Given the description of an element on the screen output the (x, y) to click on. 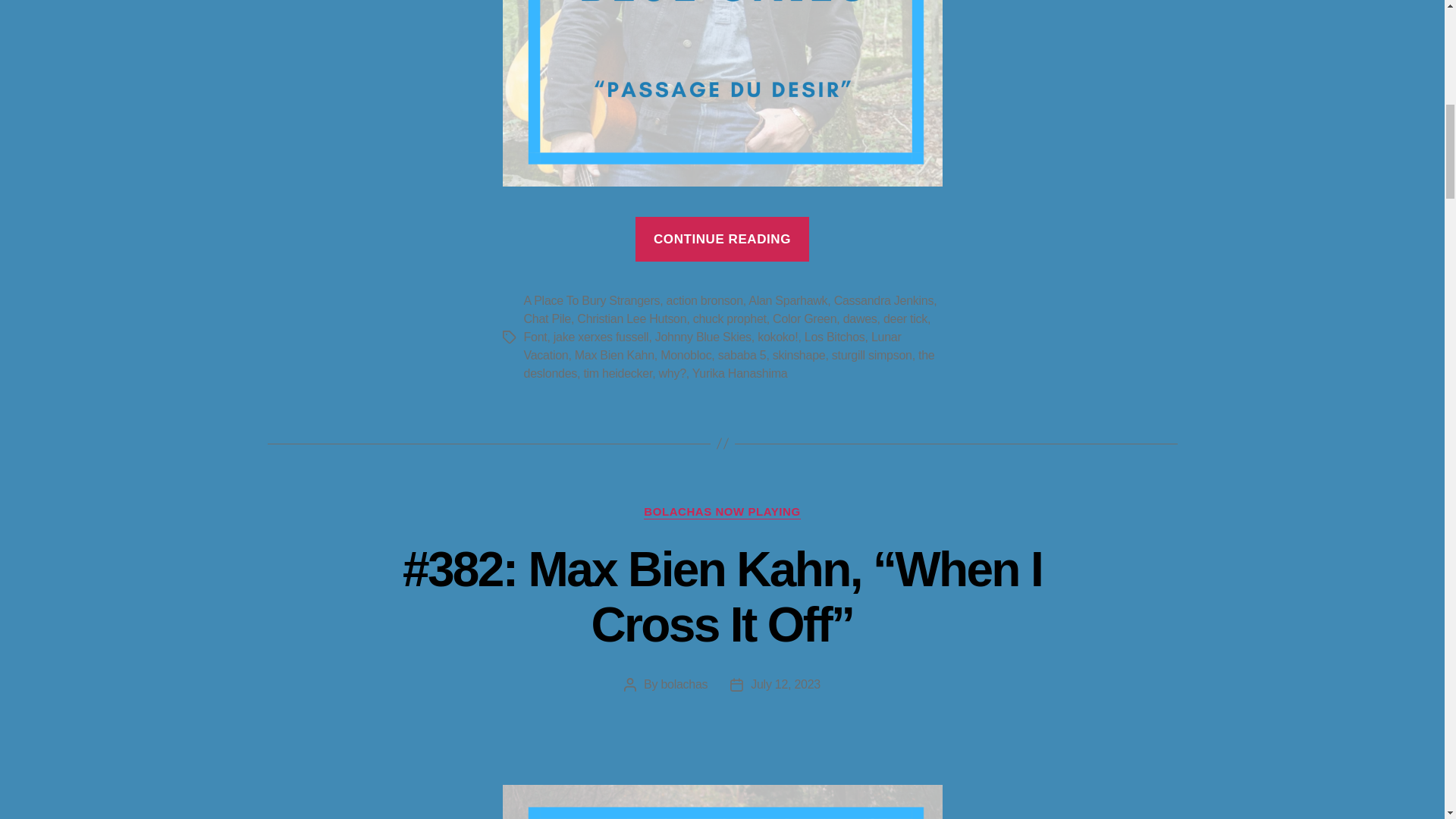
Johnny Blue Skies (703, 336)
sababa 5 (742, 354)
Max Bien Kahn (614, 354)
A Place To Bury Strangers (590, 300)
Lunar Vacation (711, 345)
action bronson (704, 300)
Alan Sparhawk (787, 300)
chuck prophet (730, 318)
Font (534, 336)
kokoko! (777, 336)
Color Green (804, 318)
Cassandra Jenkins (883, 300)
dawes (860, 318)
Monobloc (686, 354)
Christian Lee Hutson (630, 318)
